Given the description of an element on the screen output the (x, y) to click on. 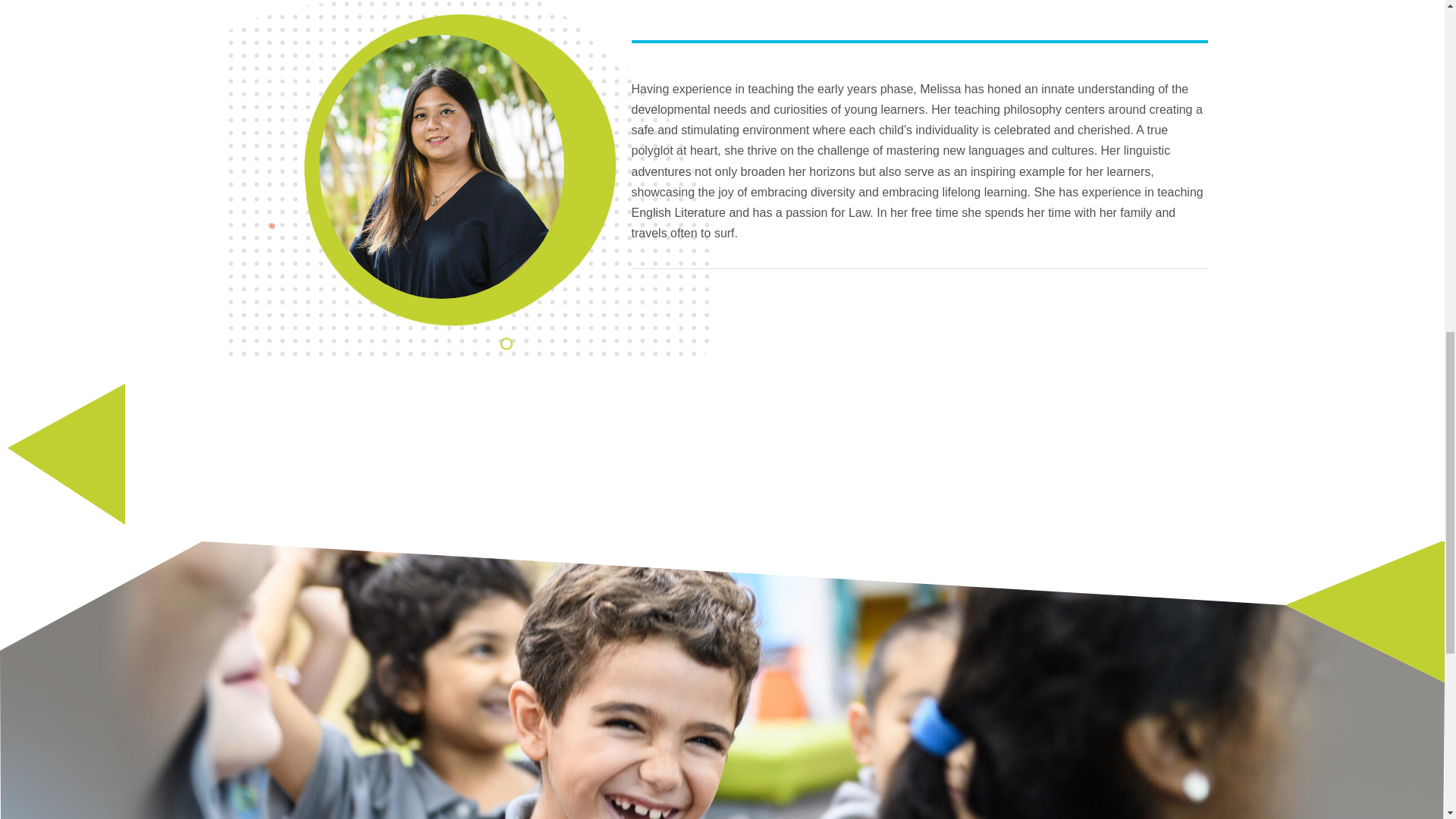
Nexus Staff Green Day 2-7709 (441, 166)
